Given the description of an element on the screen output the (x, y) to click on. 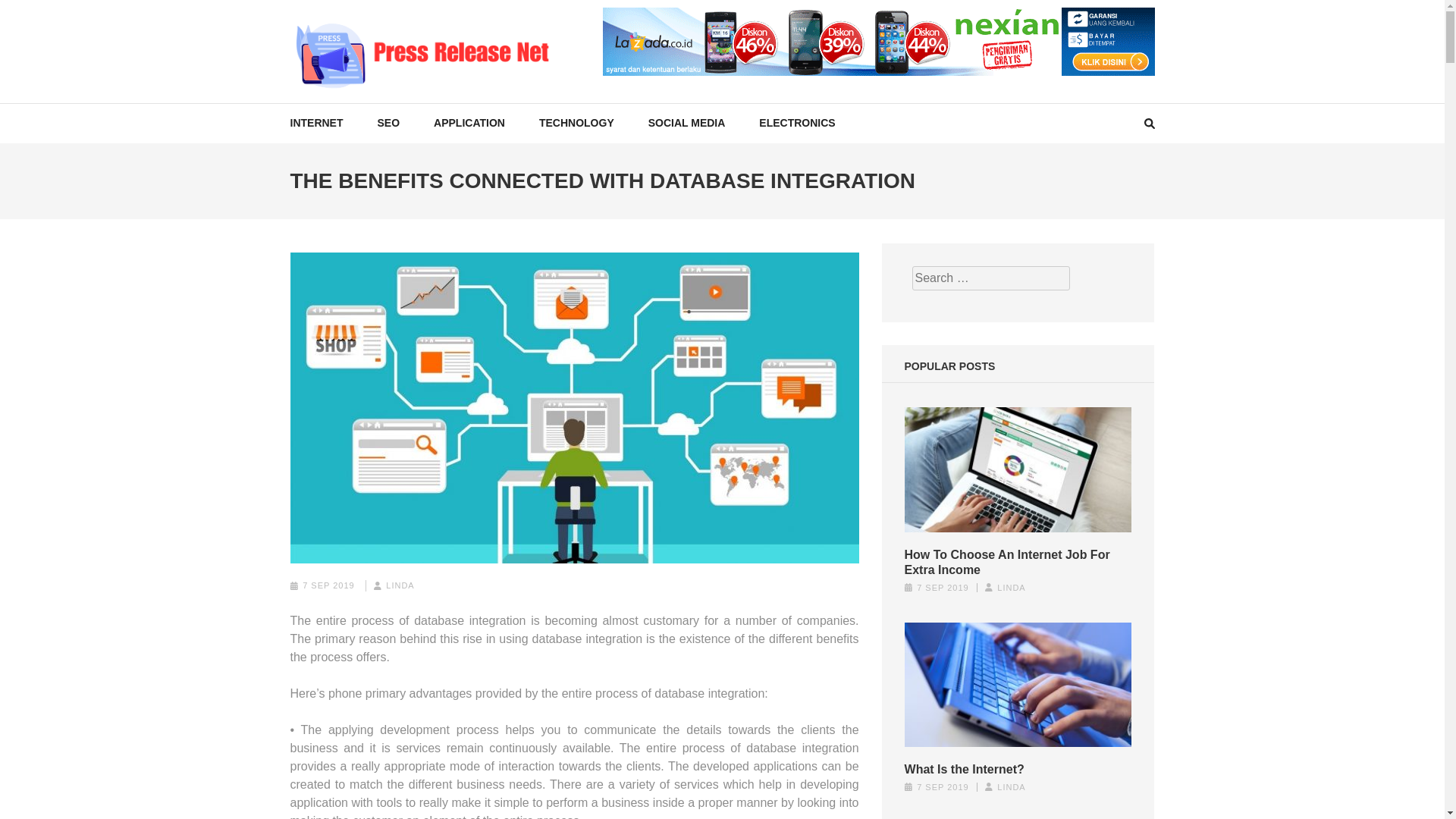
SOCIAL MEDIA (686, 123)
PRESS RELEASE NET (434, 105)
TECHNOLOGY (576, 123)
INTERNET (315, 123)
Search (1428, 19)
7 SEP 2019 (943, 587)
LINDA (399, 584)
APPLICATION (469, 123)
How To Choose An Internet Job For Extra Income (1018, 562)
7 SEP 2019 (328, 584)
SEO (388, 123)
ELECTRONICS (796, 123)
